Given the description of an element on the screen output the (x, y) to click on. 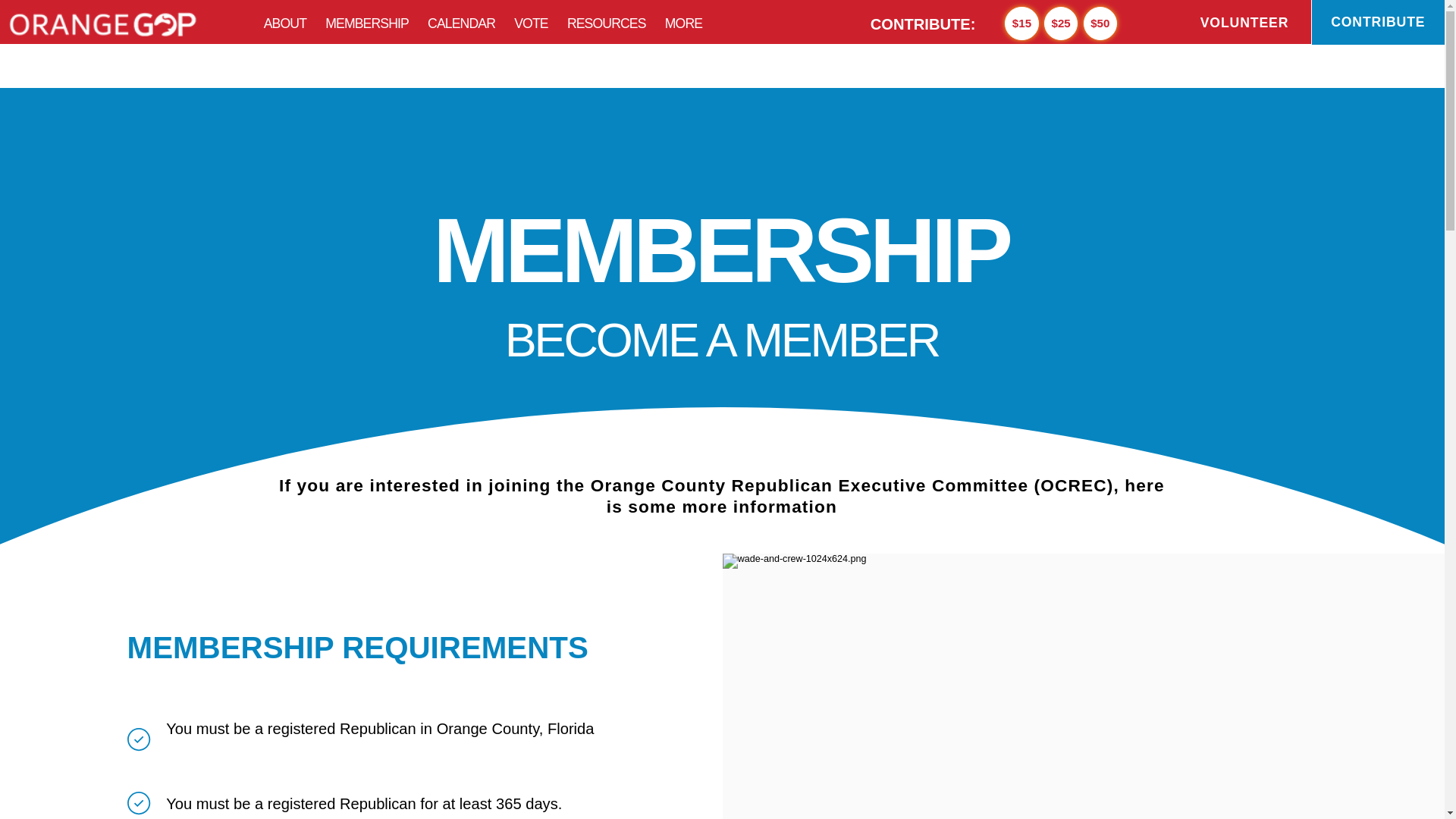
VOTE (421, 18)
ABOUT (226, 18)
VOLUNTEER (987, 18)
CALENDAR (366, 18)
here (461, 696)
